Given the description of an element on the screen output the (x, y) to click on. 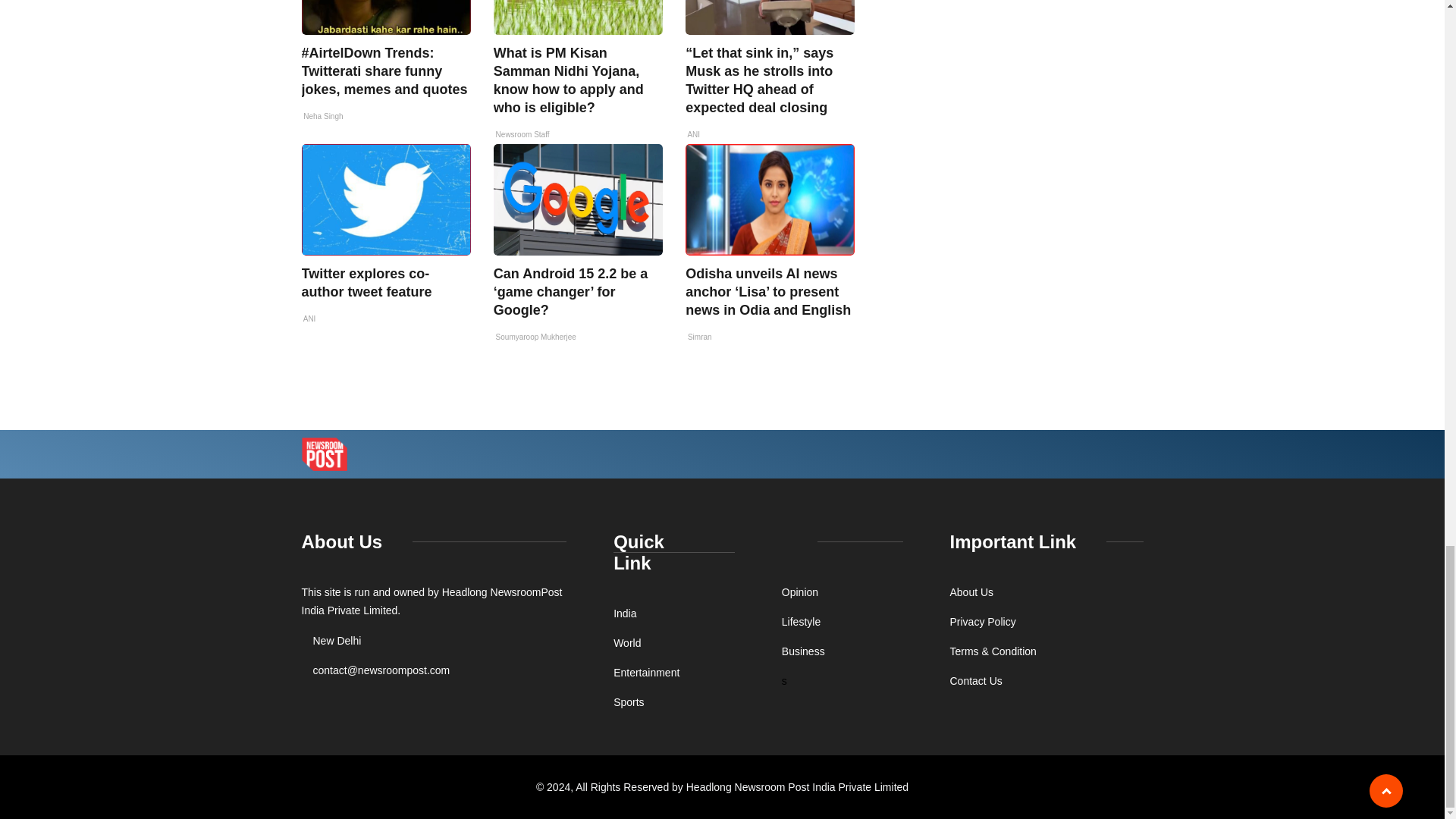
Twitter explores co-author tweet feature (385, 199)
Twitter explores co-author tweet feature (366, 282)
